Given the description of an element on the screen output the (x, y) to click on. 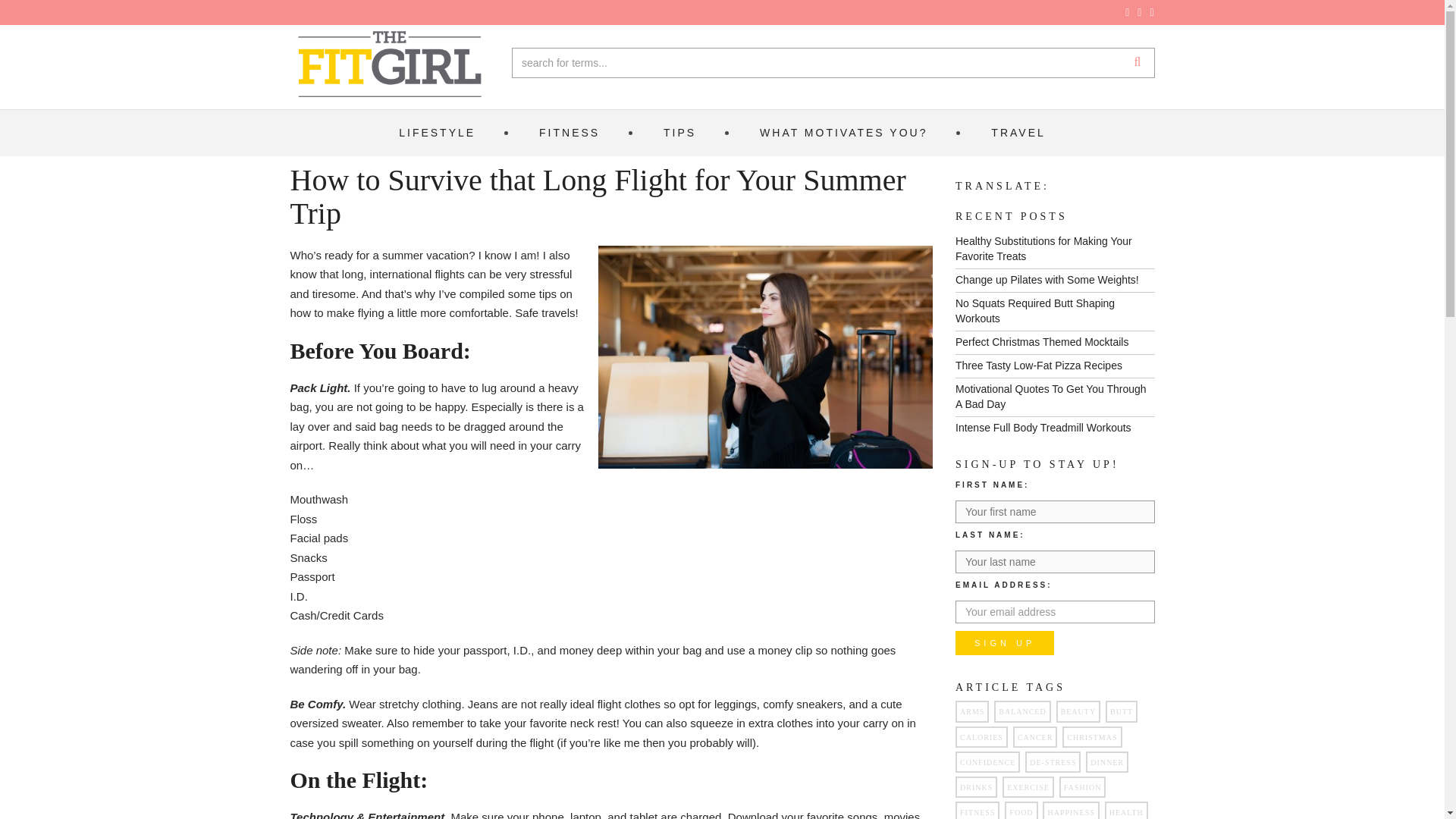
LIFESTYLE (437, 132)
Sign up (1004, 642)
Follow on Twitter (1139, 12)
TIPS (679, 132)
WHAT MOTIVATES YOU? (843, 132)
FITNESS (569, 132)
TRAVEL (1018, 132)
Homepage (389, 64)
Follow on Instagram (1152, 12)
Follow on Facebook (1127, 12)
